Given the description of an element on the screen output the (x, y) to click on. 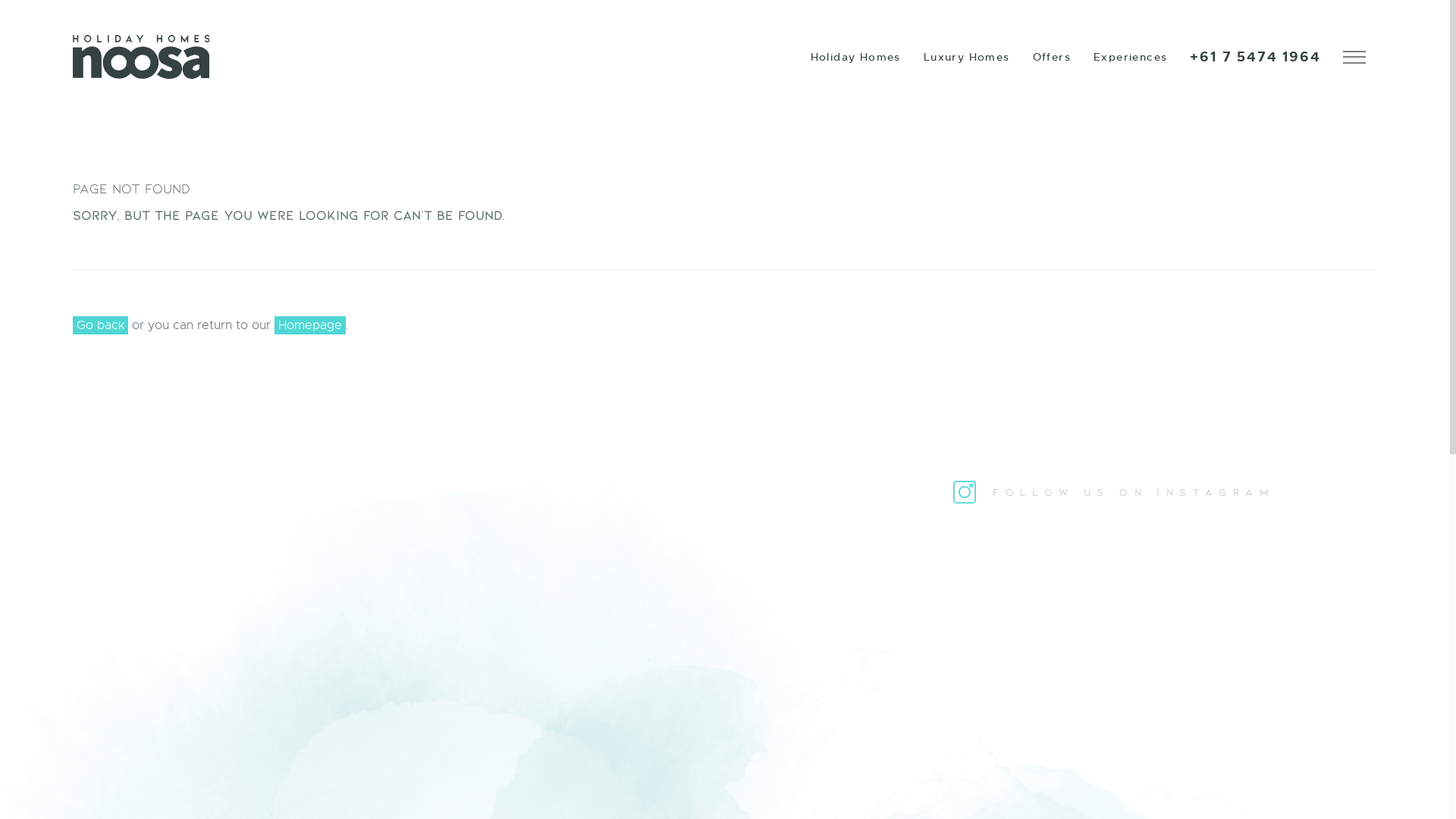
FOLLOW US ON INSTAGRAM Element type: text (1113, 491)
Homepage Element type: text (309, 325)
Offers Element type: text (1051, 56)
Holiday Homes Element type: text (855, 56)
Holiday Homes Noosa Element type: hover (141, 56)
+61 7 5474 1964 Element type: text (1254, 56)
Go back Element type: text (100, 325)
Experiences Element type: text (1129, 56)
Luxury Homes Element type: text (966, 56)
